Given the description of an element on the screen output the (x, y) to click on. 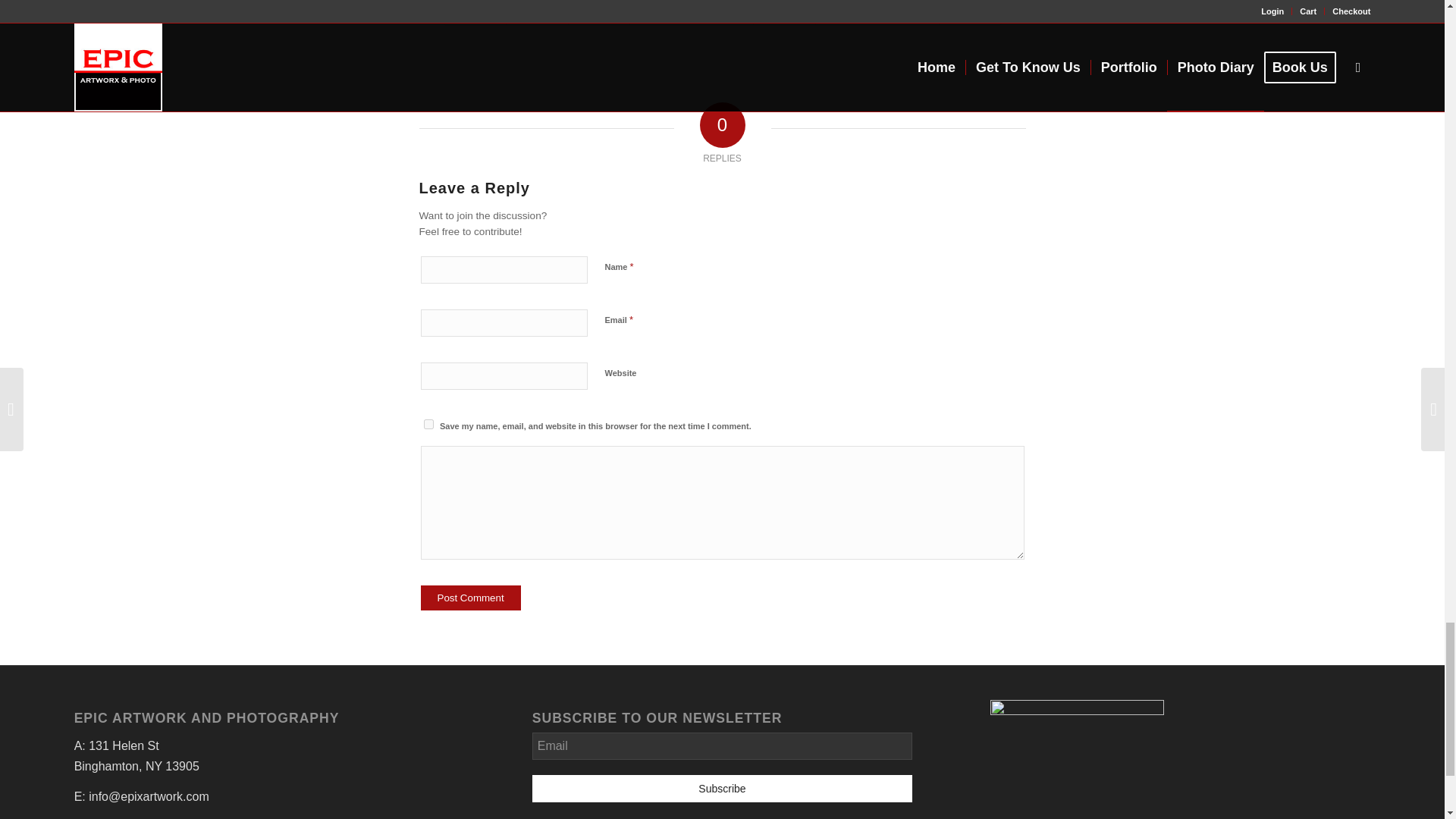
Subscribe (722, 788)
Post Comment (469, 597)
yes (427, 424)
Post Comment (469, 597)
Subscribe (722, 788)
